Given the description of an element on the screen output the (x, y) to click on. 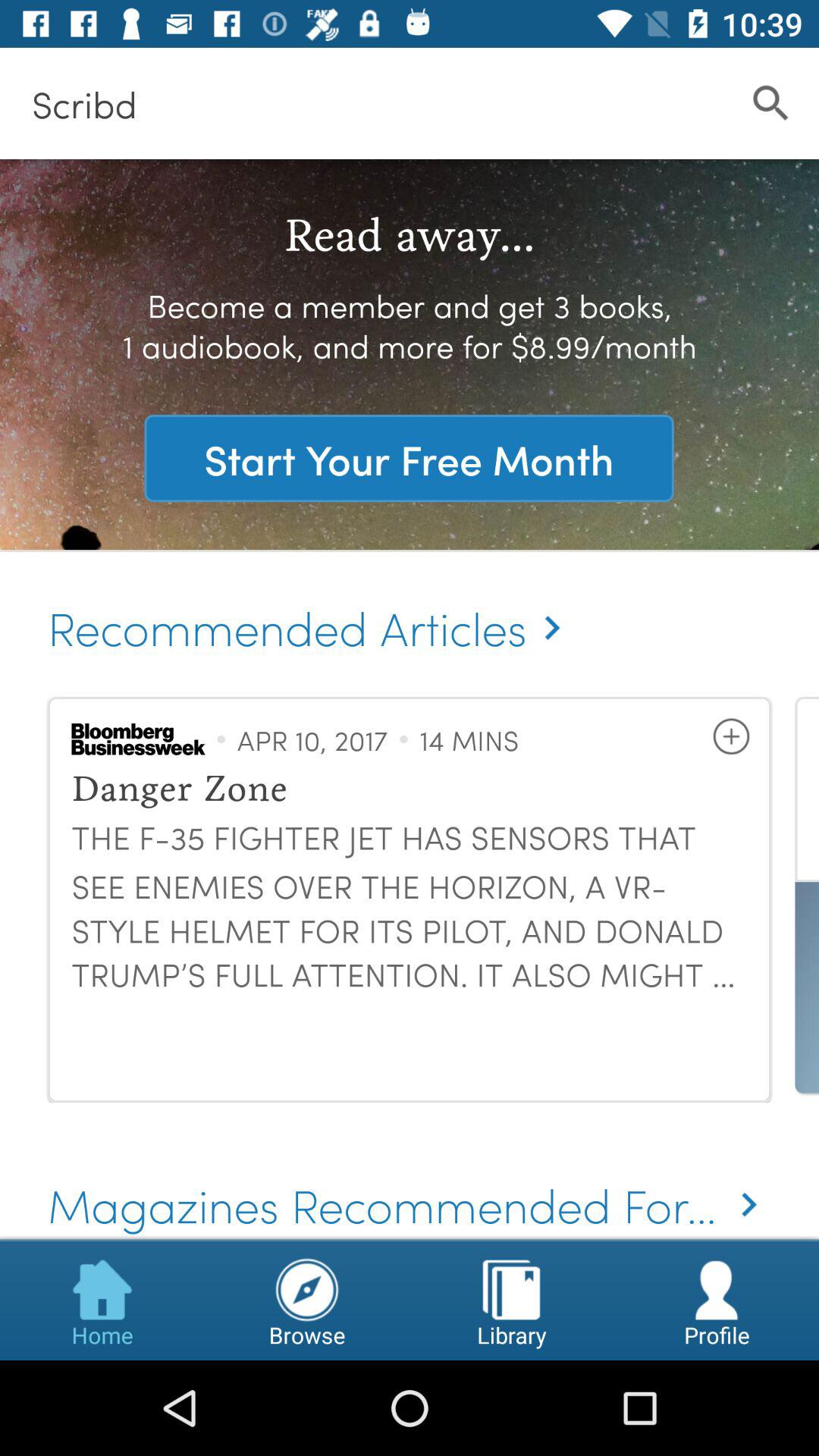
tap the item below magazines recommended for icon (306, 1300)
